Given the description of an element on the screen output the (x, y) to click on. 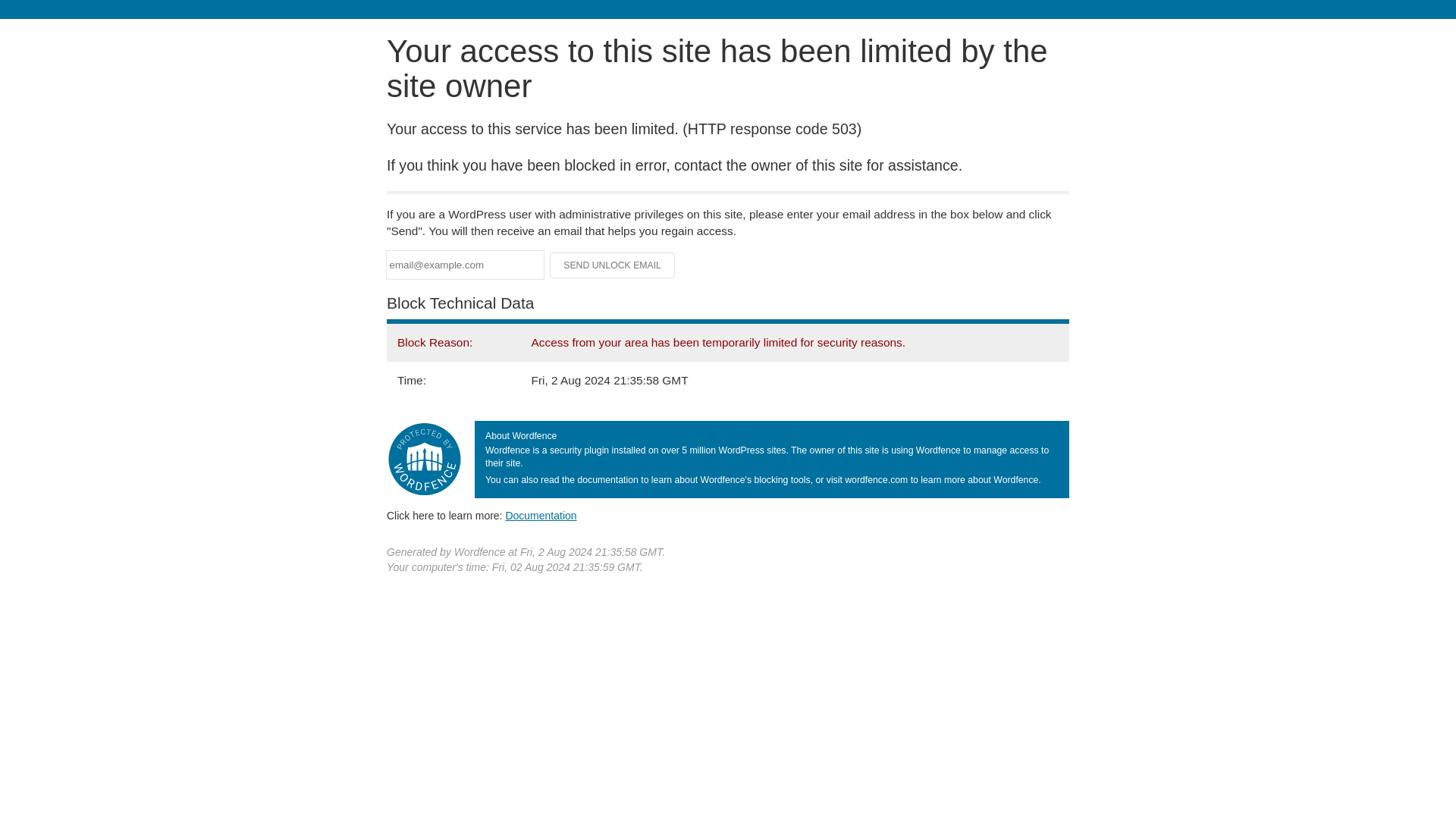
Send Unlock Email (612, 265)
Documentation (540, 515)
Send Unlock Email (612, 265)
